Given the description of an element on the screen output the (x, y) to click on. 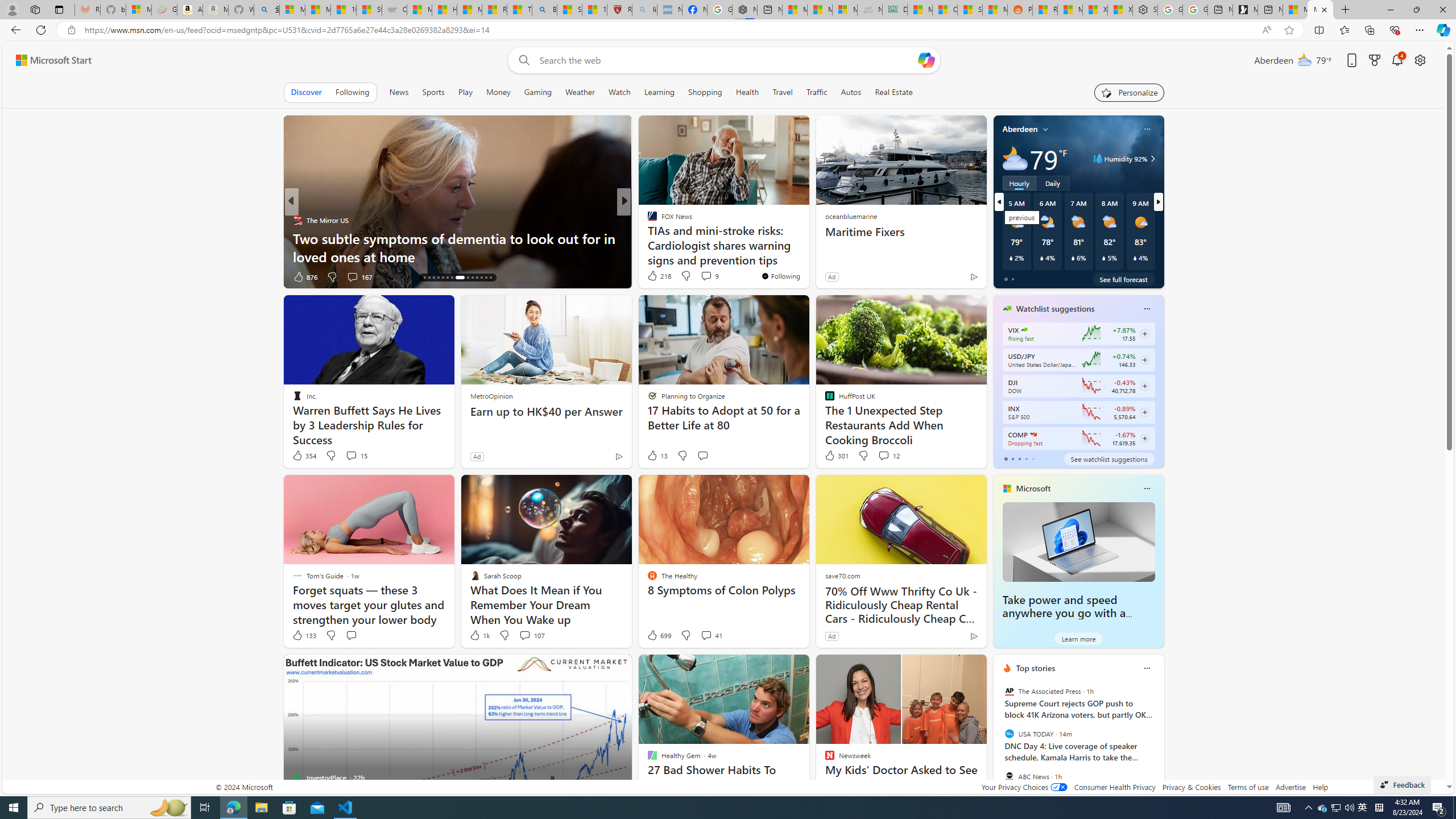
67 Like (652, 276)
12 Popular Science Lies that Must be Corrected (593, 9)
Learn more (1078, 638)
Bing (544, 9)
Consumer Health Privacy (1115, 786)
View comments 9 Comment (709, 275)
View comments 41 Comment (705, 635)
Medical Xpress (647, 219)
